Given the description of an element on the screen output the (x, y) to click on. 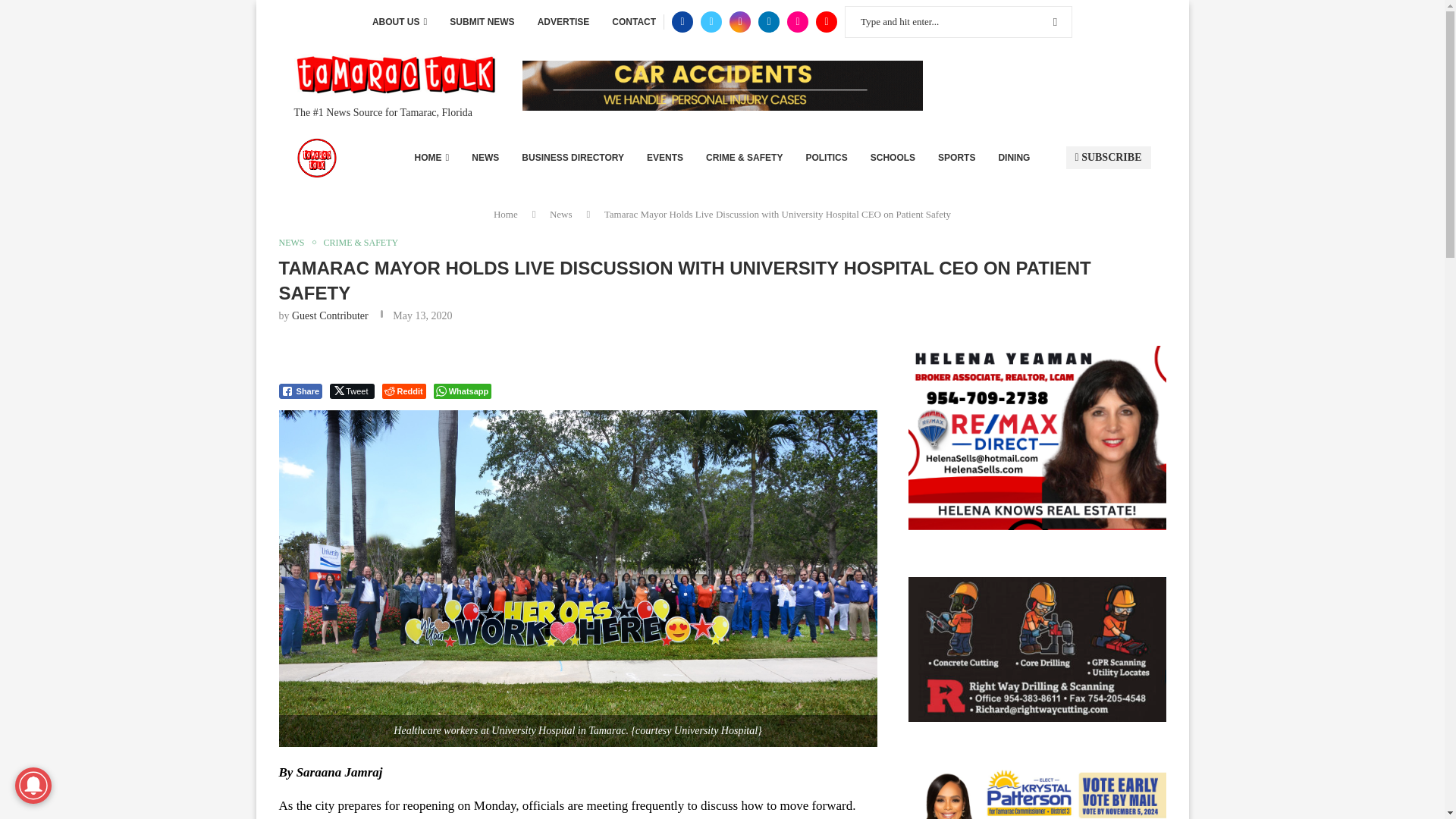
SCHOOLS (892, 157)
ADVERTISE (563, 22)
CONTACT (633, 22)
POLITICS (826, 157)
ABOUT US (399, 22)
SUBMIT NEWS (481, 22)
BUSINESS DIRECTORY (572, 157)
SUBSCRIBE (1108, 157)
